Given the description of an element on the screen output the (x, y) to click on. 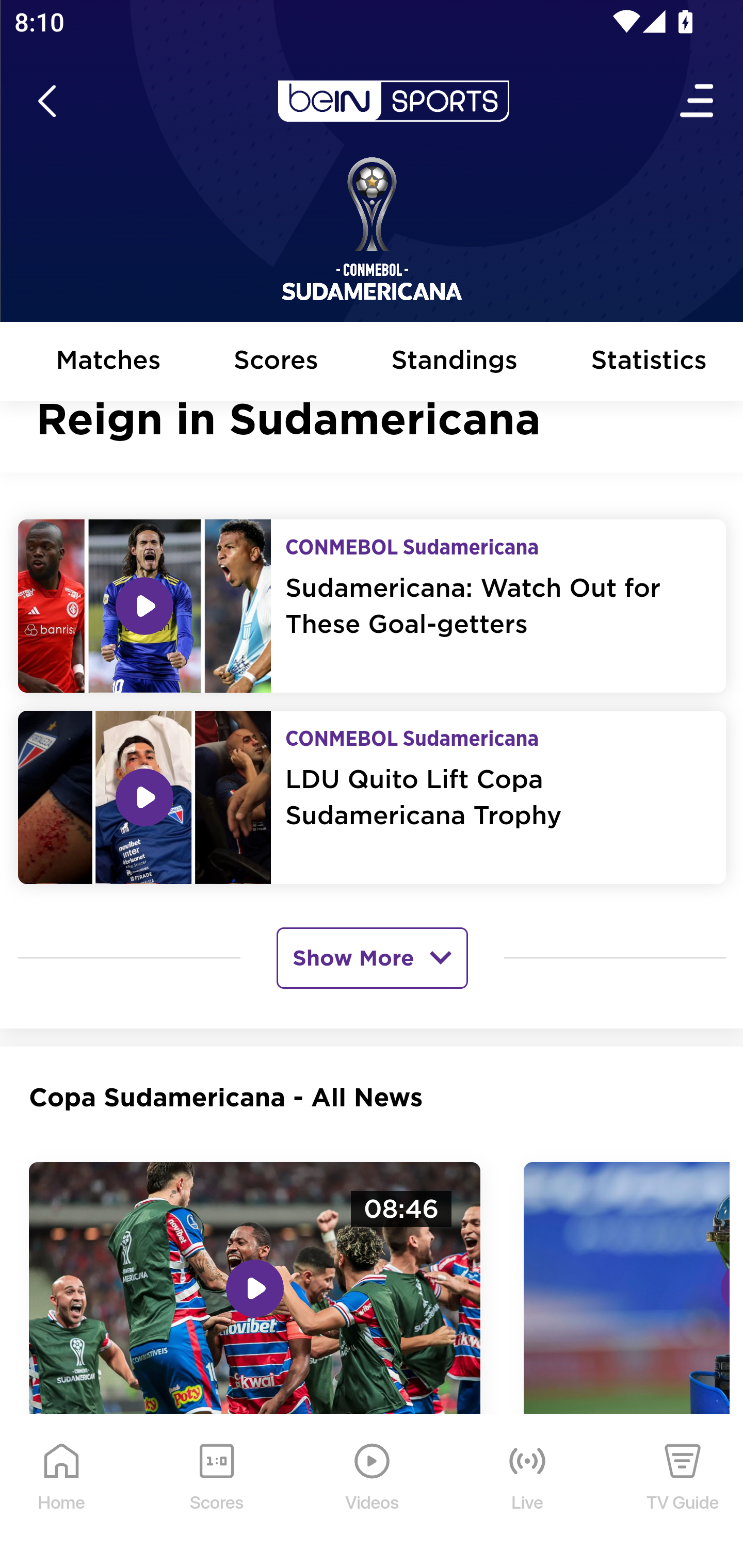
en-us?platform=mobile_android bein logo white (392, 101)
icon back (46, 101)
Open Menu Icon (697, 101)
Matches (107, 361)
Scores (275, 361)
Standings (454, 361)
Statistics (649, 361)
Show More (371, 957)
Home Home Icon Home (61, 1491)
Scores Scores Icon Scores (216, 1491)
Videos Videos Icon Videos (372, 1491)
TV Guide TV Guide Icon TV Guide (682, 1491)
